Given the description of an element on the screen output the (x, y) to click on. 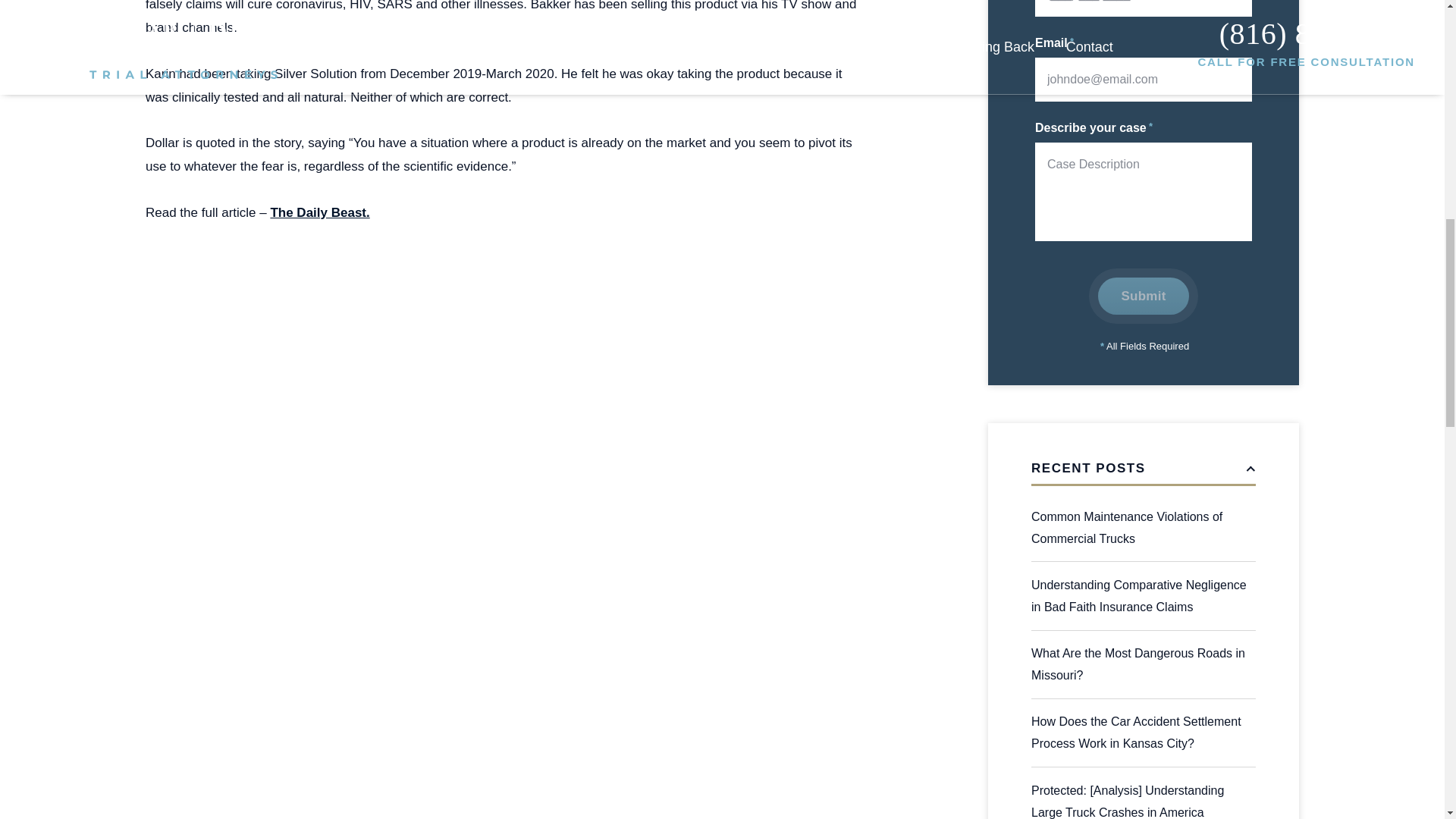
The Daily Beast. (319, 212)
Common Maintenance Violations of Commercial Trucks (1142, 527)
Submit (1142, 295)
